Given the description of an element on the screen output the (x, y) to click on. 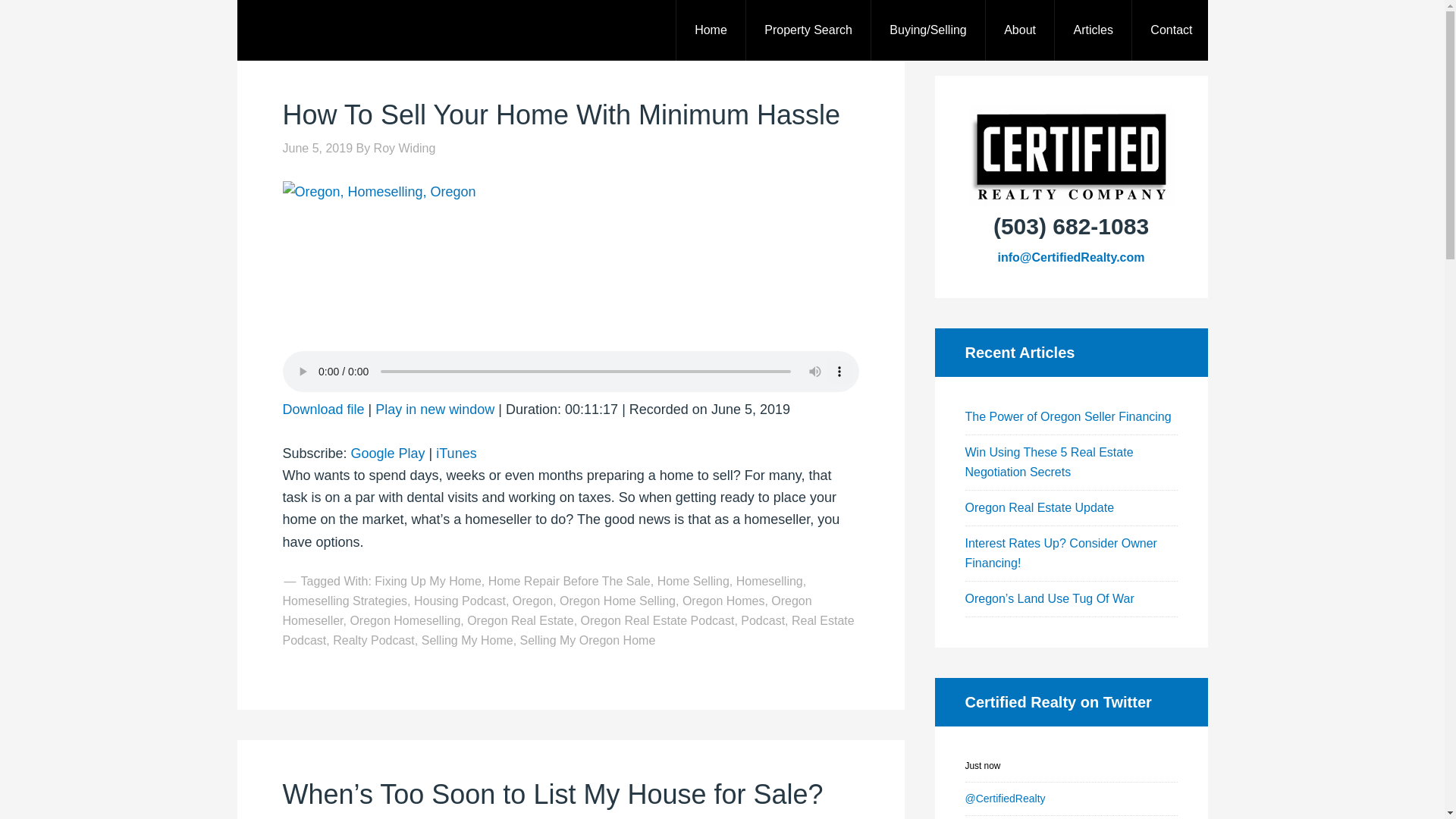
About (1019, 30)
Google Play (387, 453)
Housing Podcast (459, 600)
Podcast (762, 620)
Oregon Real Estate (520, 620)
Oregon Homeselling (404, 620)
iTunes (455, 453)
Realty Podcast (373, 640)
Fixing Up My Home (427, 581)
Oregon Real Estate Podcast (657, 620)
